Given the description of an element on the screen output the (x, y) to click on. 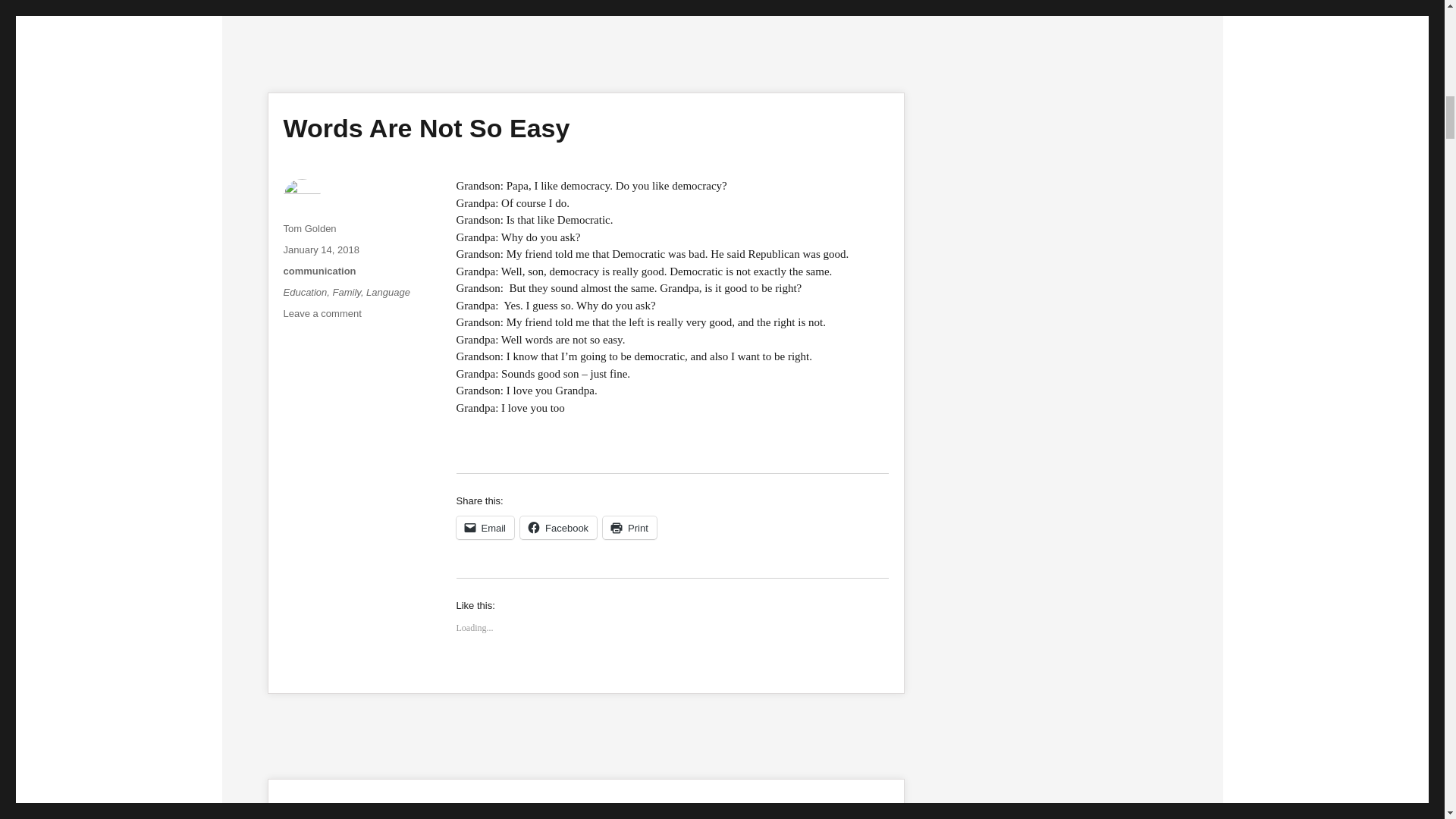
communication (319, 270)
January 14, 2018 (321, 249)
Language (322, 313)
Words Are Not So Easy (388, 292)
Family (426, 127)
Email (347, 292)
Click to share on Facebook (486, 527)
Print (557, 527)
Education (629, 527)
